Given the description of an element on the screen output the (x, y) to click on. 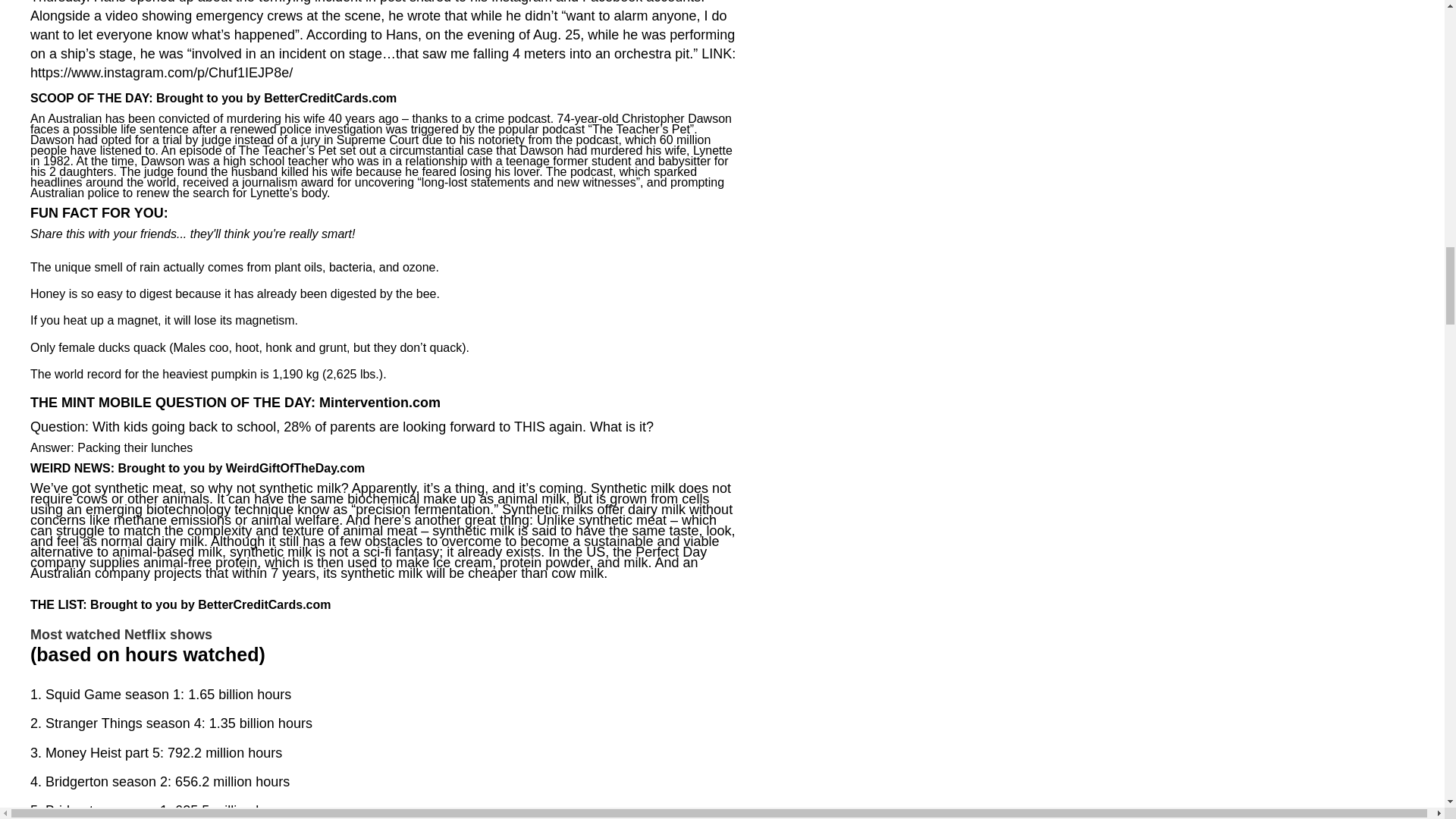
BetterCreditCards.com (264, 604)
Mintervention.com (379, 402)
BetterCreditCards.com (329, 98)
WeirdGiftOfTheDay.com (295, 469)
